Given the description of an element on the screen output the (x, y) to click on. 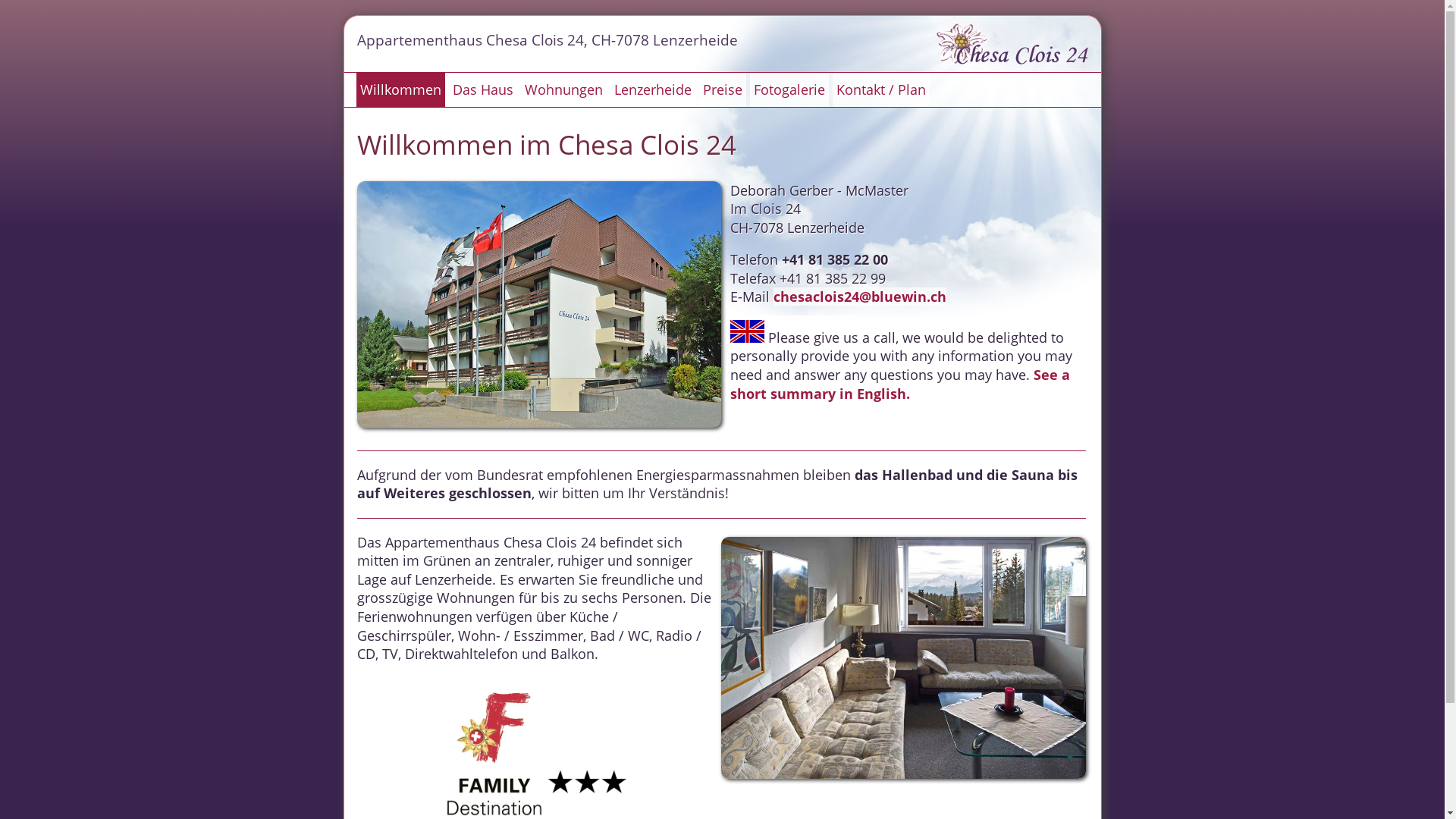
english speaking Element type: hover (747, 331)
Kontakt / Plan Element type: text (880, 89)
Wohnungen Element type: text (562, 89)
chesaclois24@bluewin.ch Element type: text (859, 296)
Lenzerheide Element type: text (651, 89)
Fotogalerie Element type: text (788, 89)
Preise Element type: text (722, 89)
Willkommen Element type: text (400, 89)
Das Haus Element type: text (482, 89)
See a short summary in English. Element type: text (900, 383)
